Given the description of an element on the screen output the (x, y) to click on. 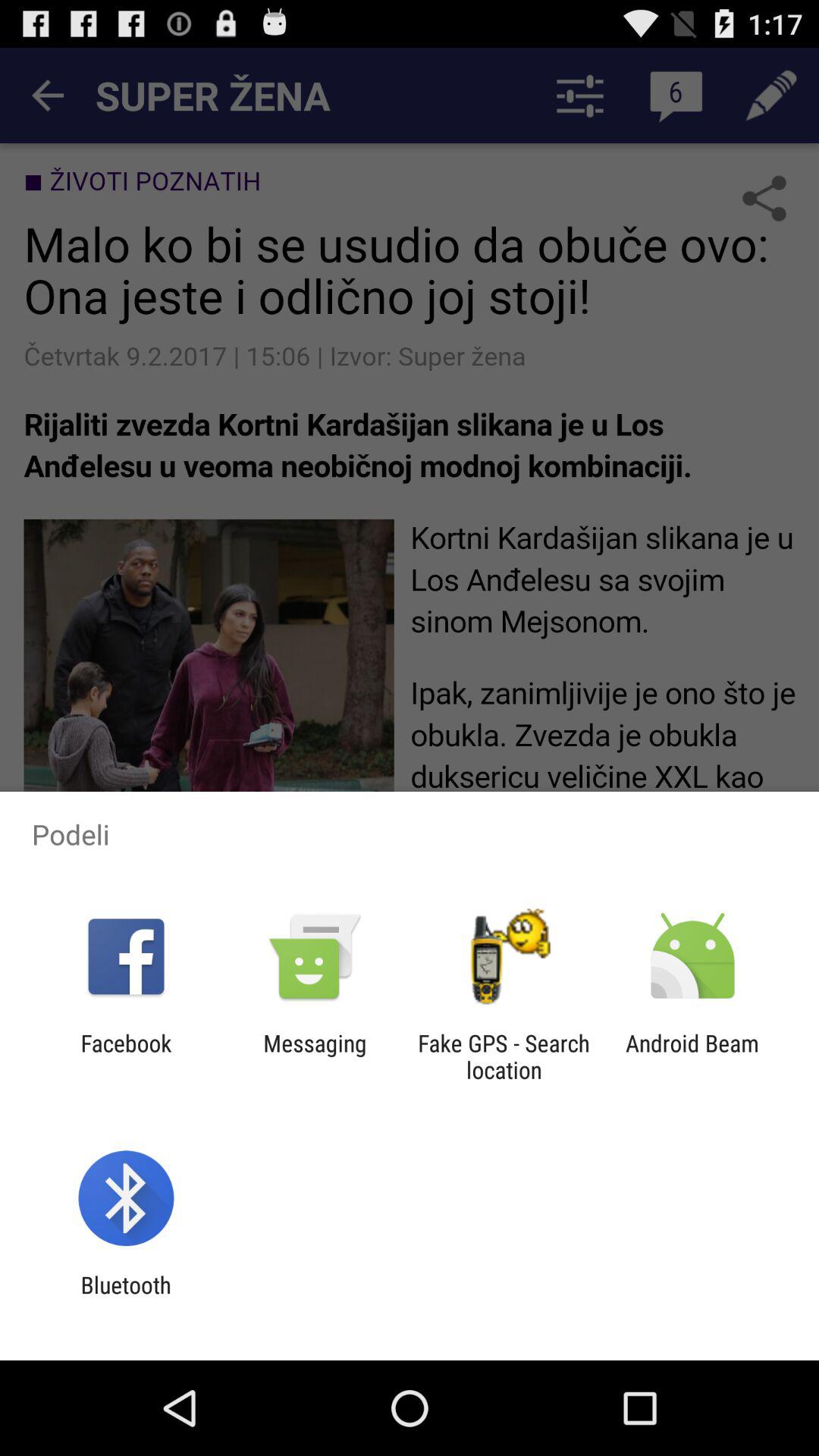
swipe until the messaging (314, 1056)
